Given the description of an element on the screen output the (x, y) to click on. 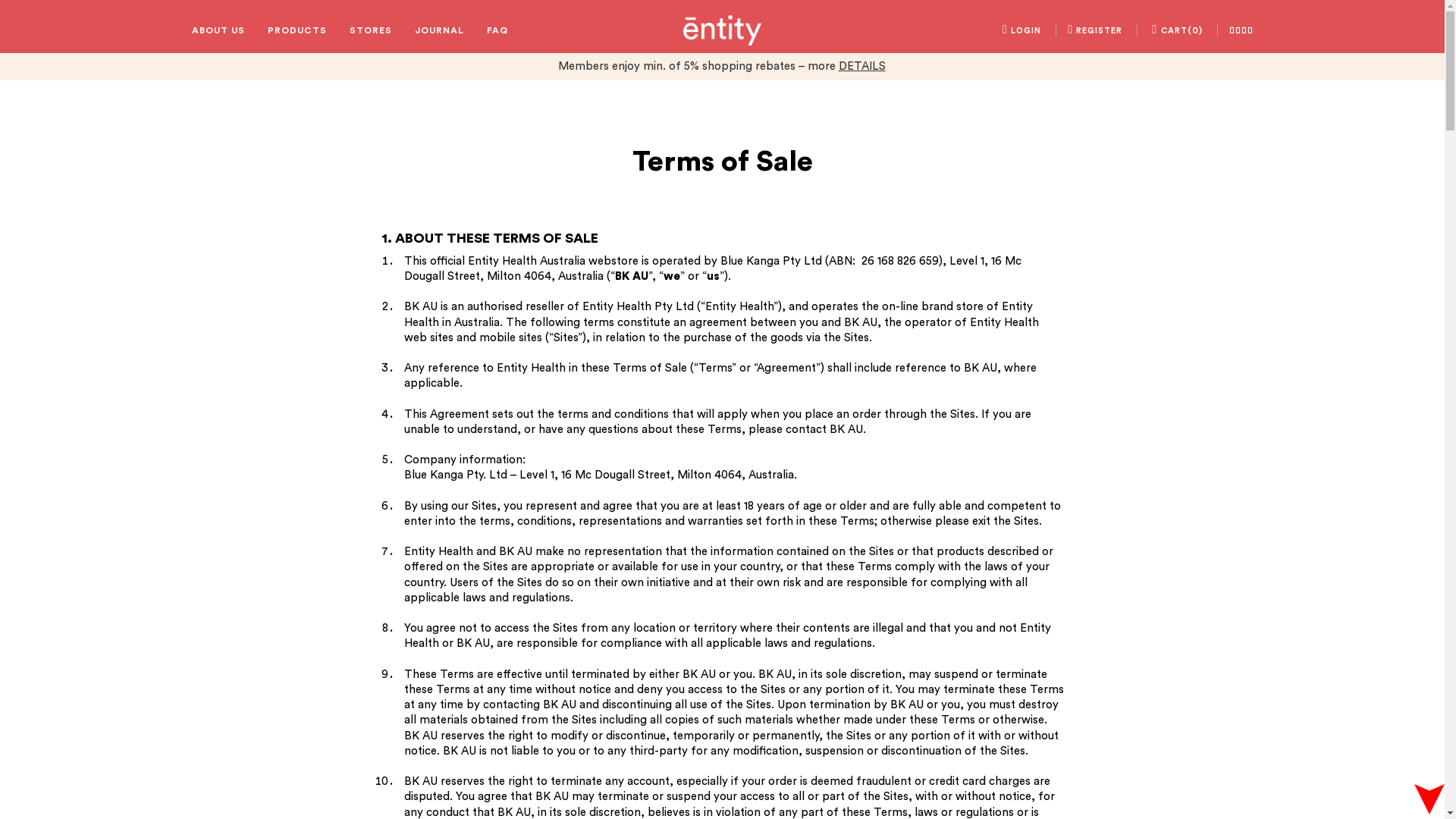
PRODUCTS Element type: text (296, 29)
CART(0) Element type: text (1176, 29)
JOURNAL Element type: text (438, 29)
REGISTER Element type: text (1094, 29)
LOGIN Element type: text (1021, 29)
ABOUT US Element type: text (217, 29)
FAQ Element type: text (497, 29)
STORES Element type: text (369, 29)
DETAILS Element type: text (861, 66)
